Given the description of an element on the screen output the (x, y) to click on. 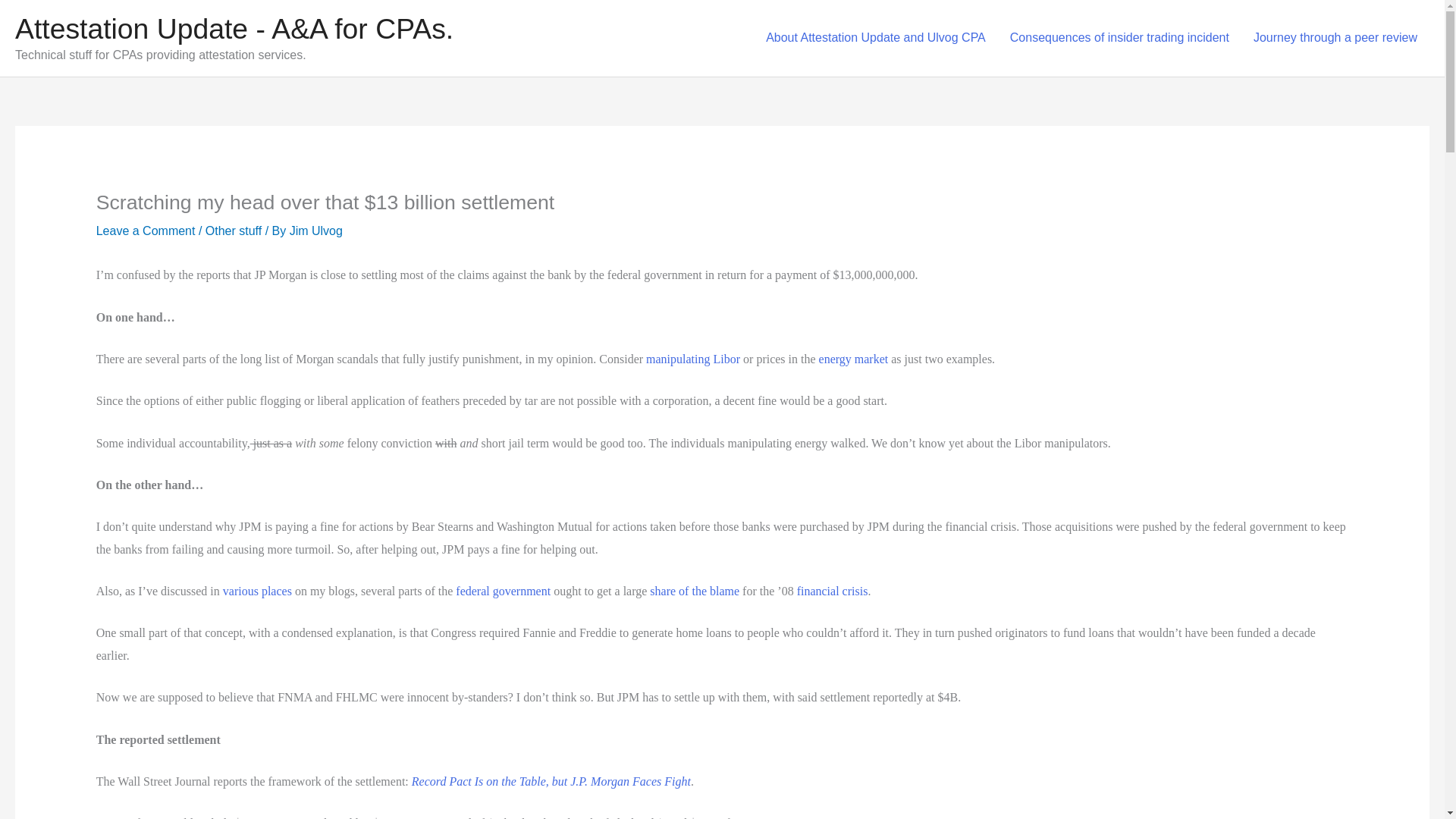
share of the blame (694, 590)
Record Pact Is on the Table, but J.P. Morgan Faces Fight (551, 780)
Journey through a peer review (1335, 37)
financial crisis (831, 590)
View all posts by Jim Ulvog (315, 230)
Leave a Comment (145, 230)
federal government (502, 590)
manipulating Libor (692, 358)
Consequences of insider trading incident (1119, 37)
Jim Ulvog (315, 230)
various places (257, 590)
energy market (853, 358)
Other stuff (233, 230)
About Attestation Update and Ulvog CPA (875, 37)
